Given the description of an element on the screen output the (x, y) to click on. 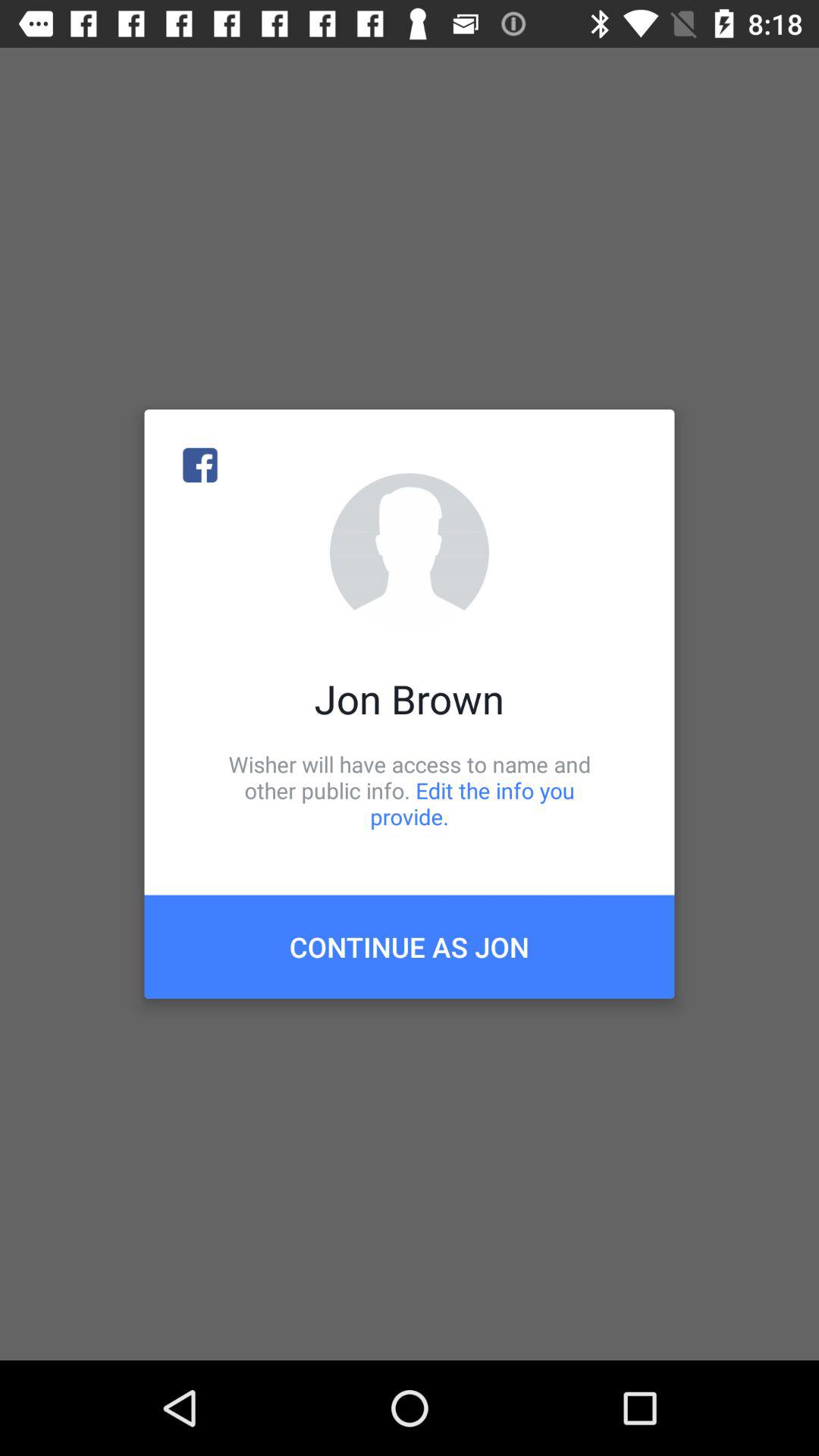
scroll to wisher will have icon (409, 790)
